Given the description of an element on the screen output the (x, y) to click on. 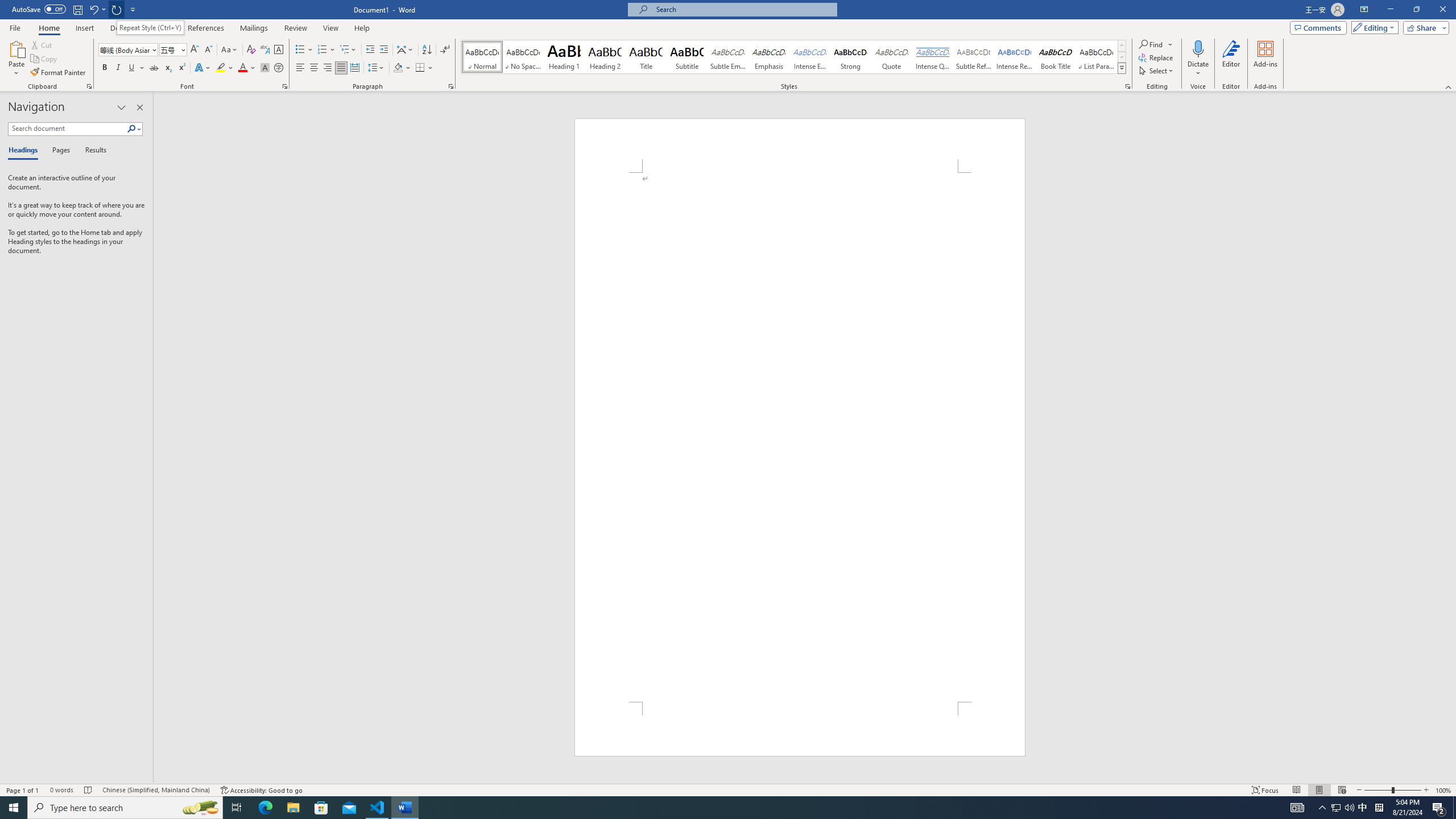
Mode (1372, 27)
Pages (59, 150)
Borders (424, 67)
